Given the description of an element on the screen output the (x, y) to click on. 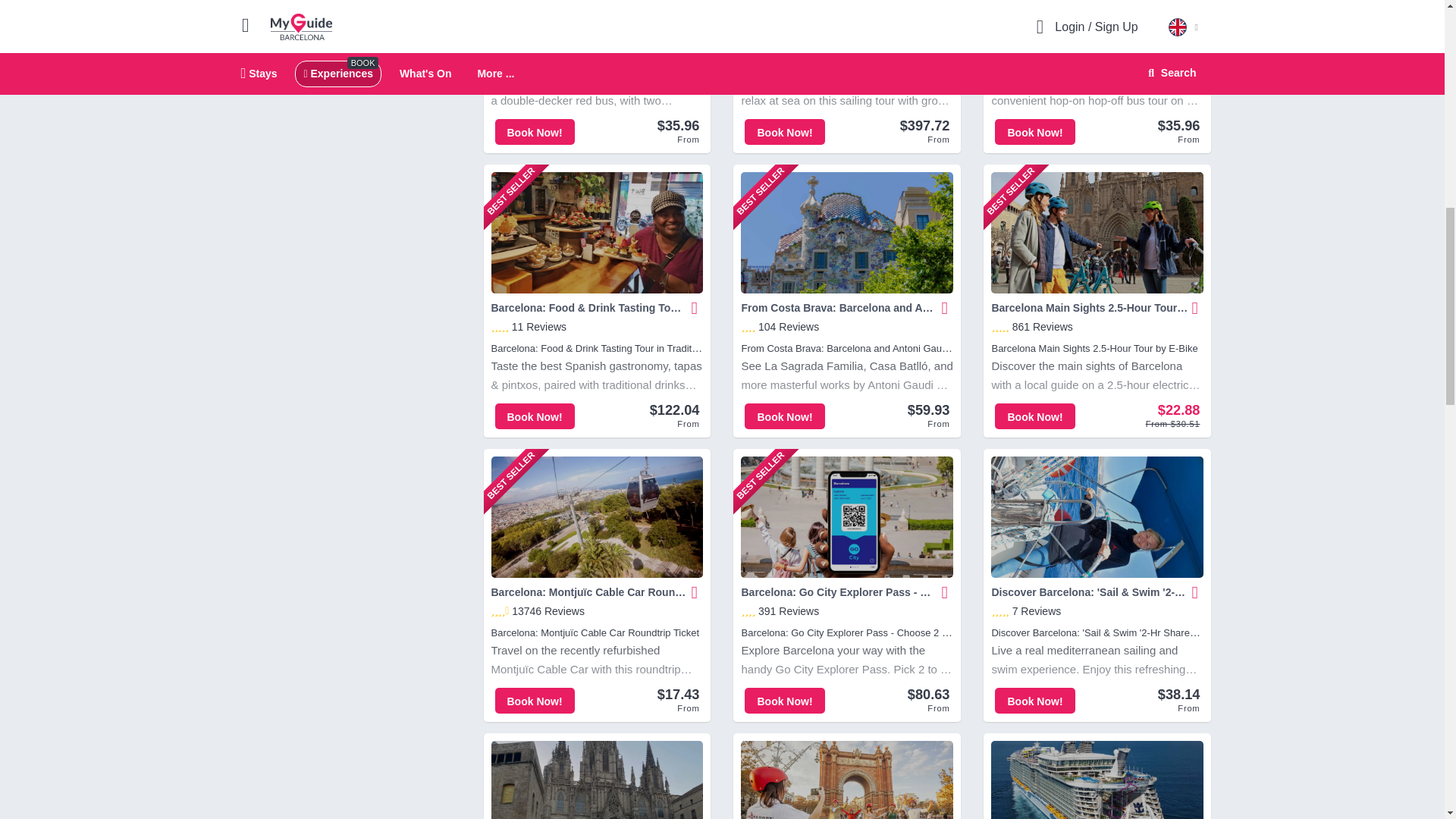
GetYourGuide Widget (346, 25)
